Given the description of an element on the screen output the (x, y) to click on. 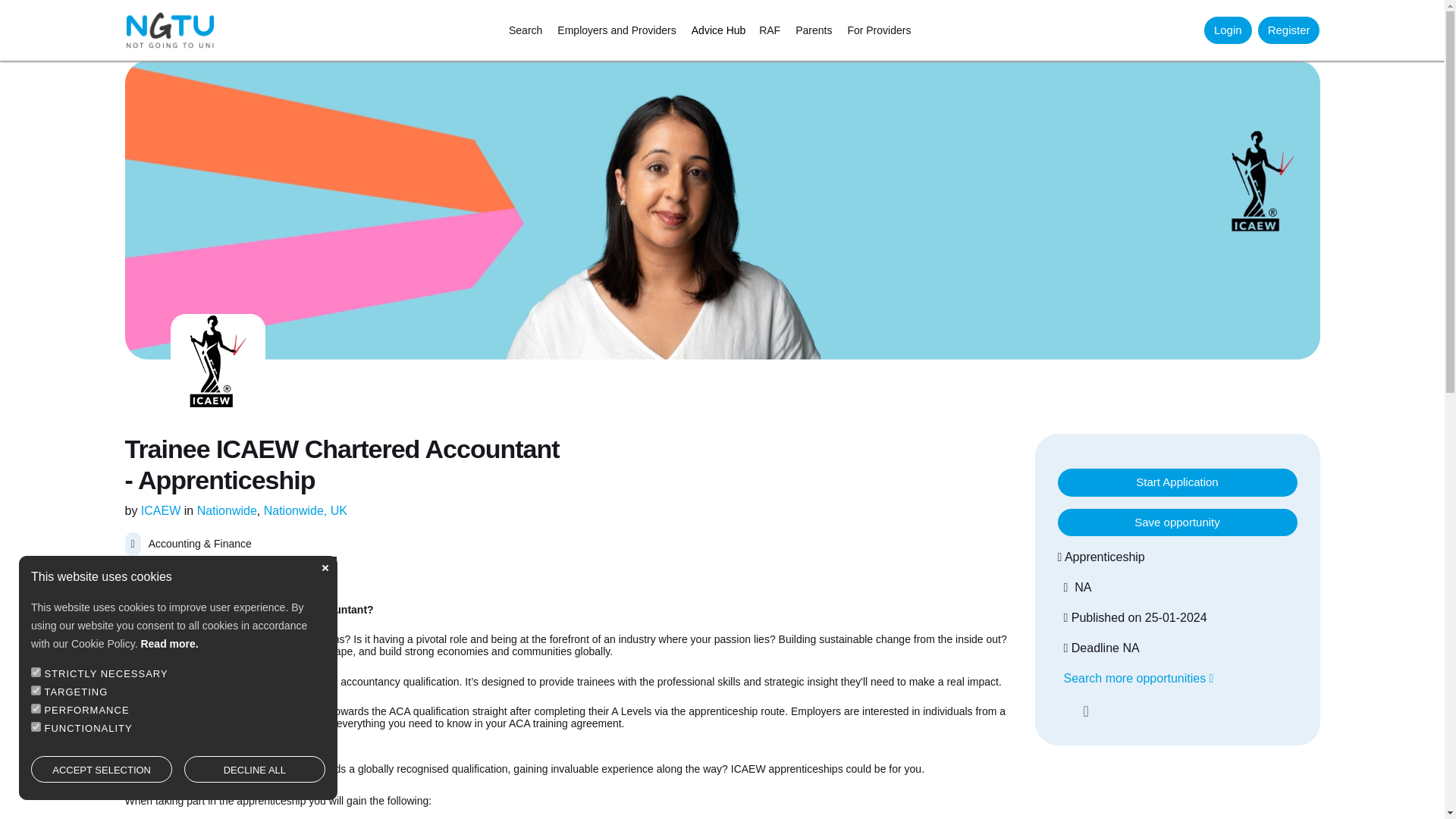
ICAEW (160, 510)
on (35, 726)
Employers and Providers (616, 30)
For Providers (879, 30)
on (35, 708)
  RAF (766, 30)
Search more opportunities  (1137, 677)
Advice Hub (718, 30)
Save opportunity (1177, 521)
Search (525, 30)
Search (525, 30)
Employers and Providers (616, 30)
Nationwide (226, 510)
Login (1228, 30)
Nationwide, UK (305, 510)
